Given the description of an element on the screen output the (x, y) to click on. 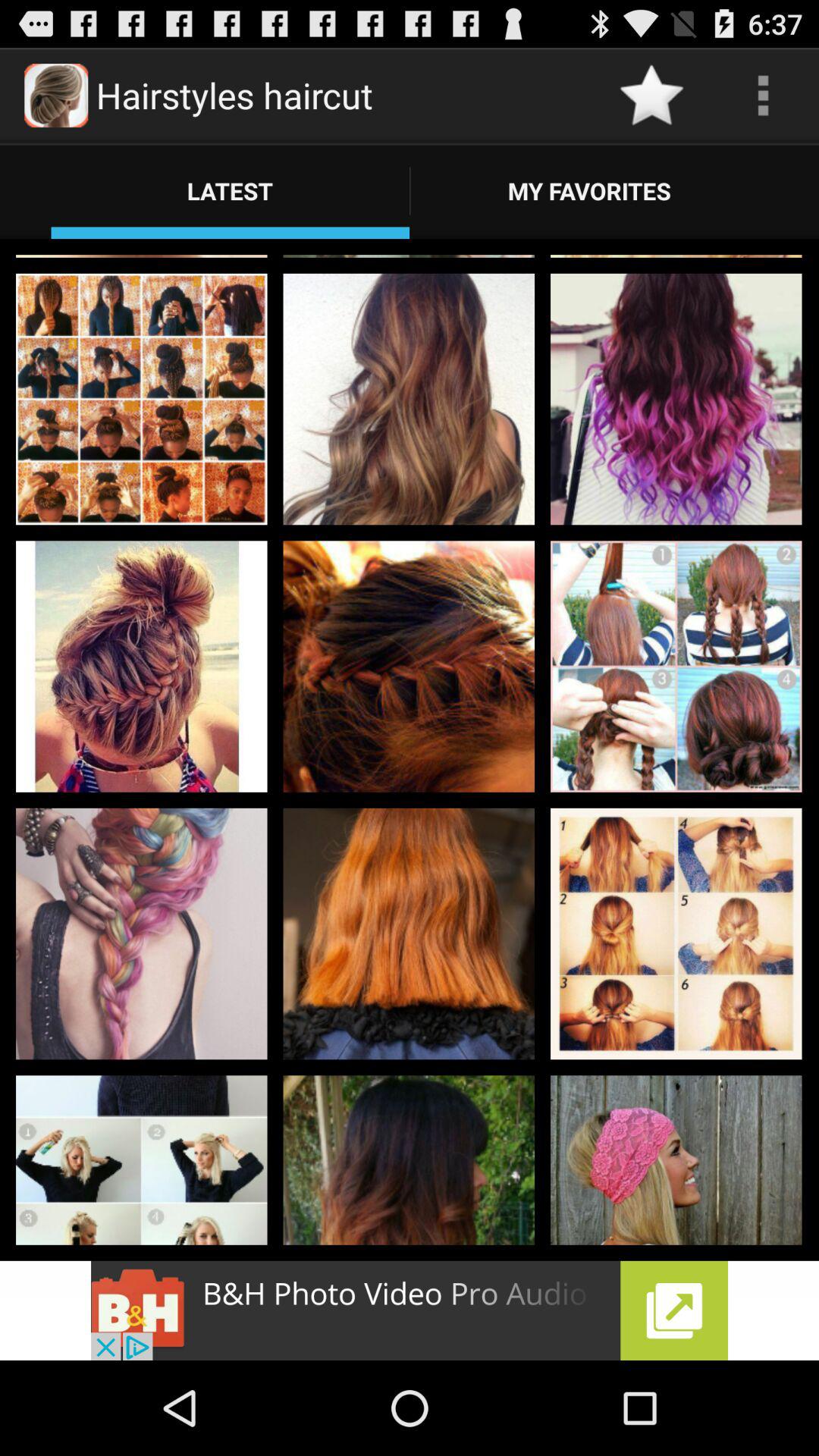
shows menu option (763, 95)
